Given the description of an element on the screen output the (x, y) to click on. 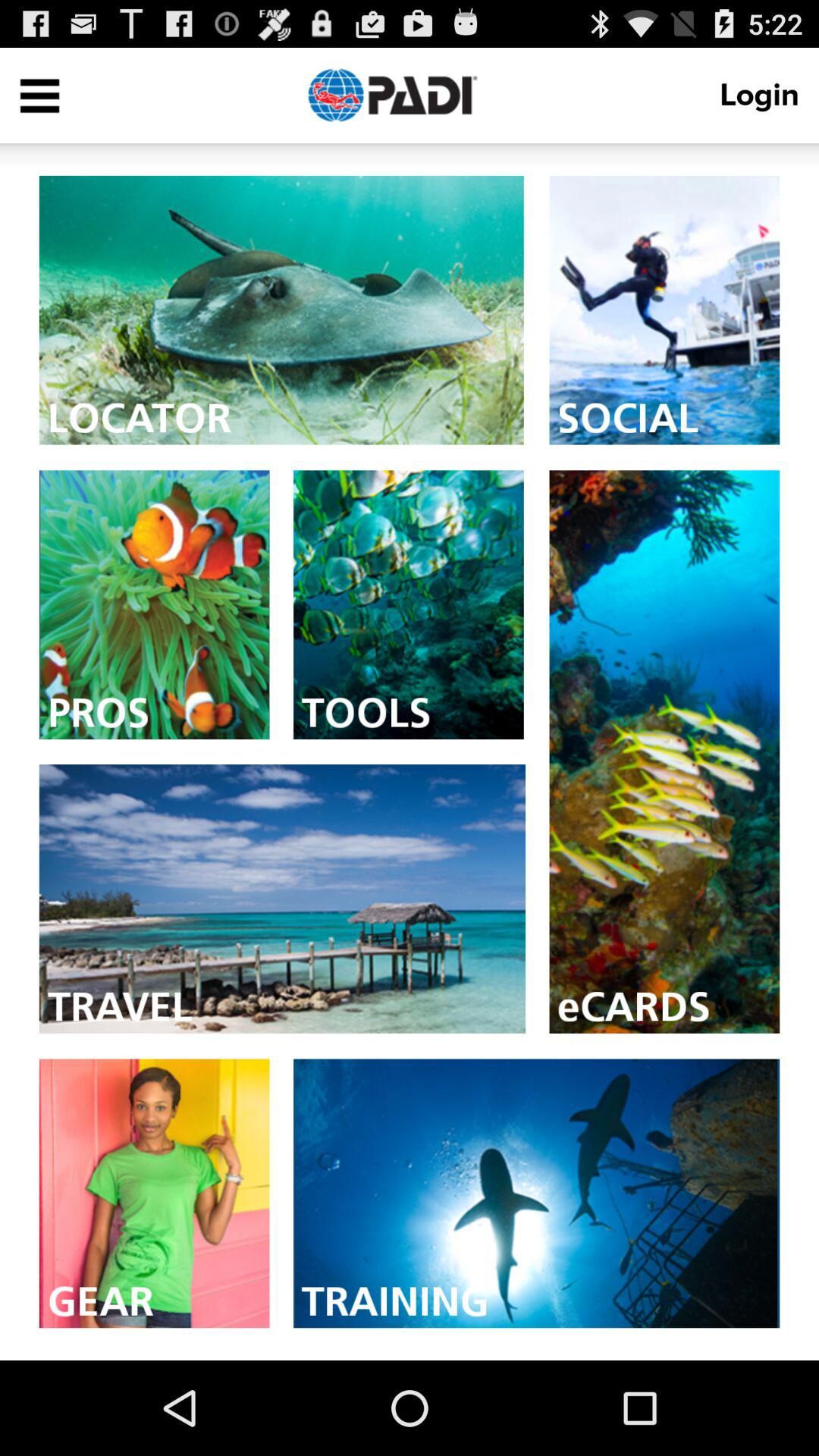
select gear (154, 1193)
